Given the description of an element on the screen output the (x, y) to click on. 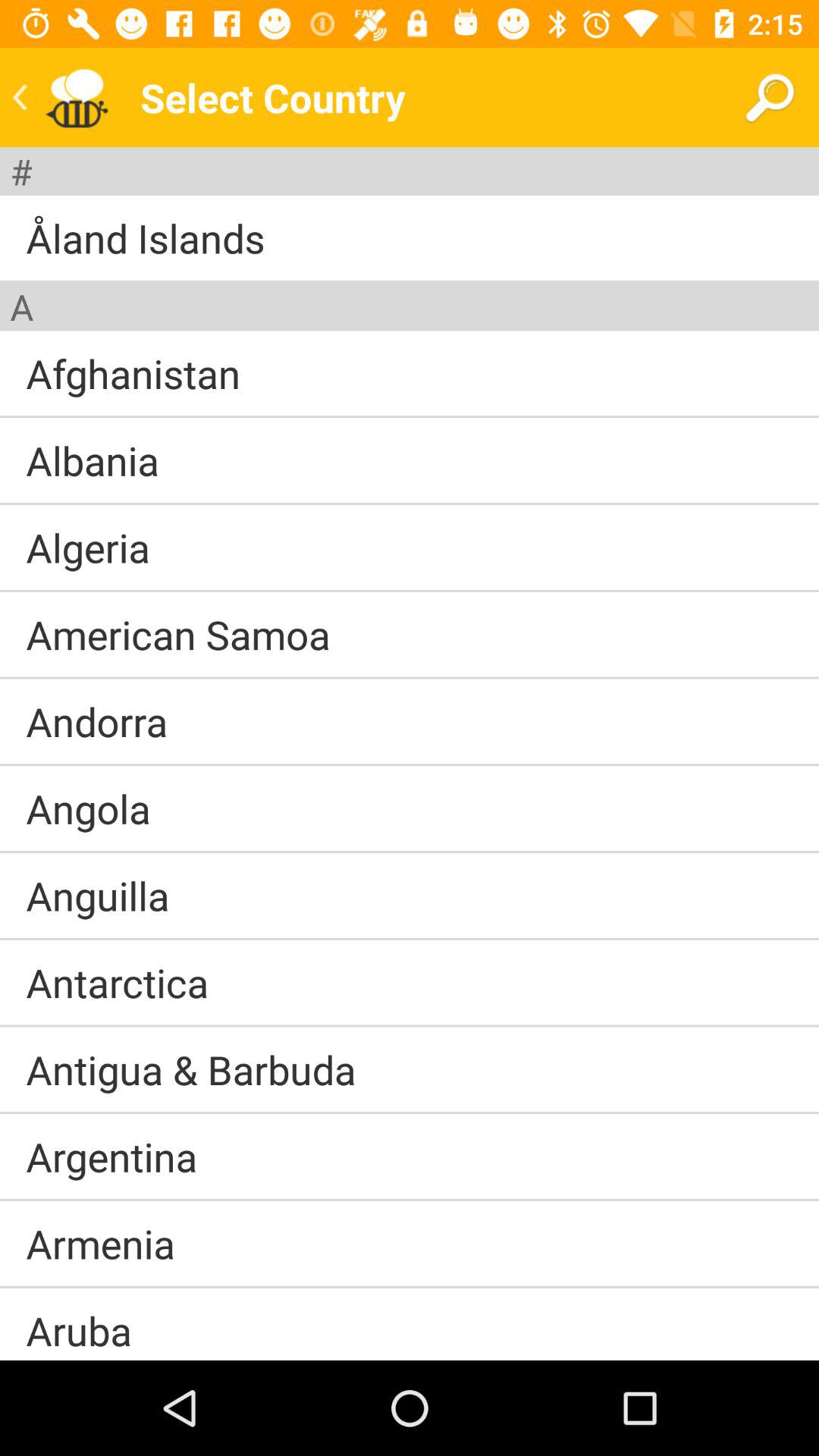
flip until the aruba item (78, 1324)
